Given the description of an element on the screen output the (x, y) to click on. 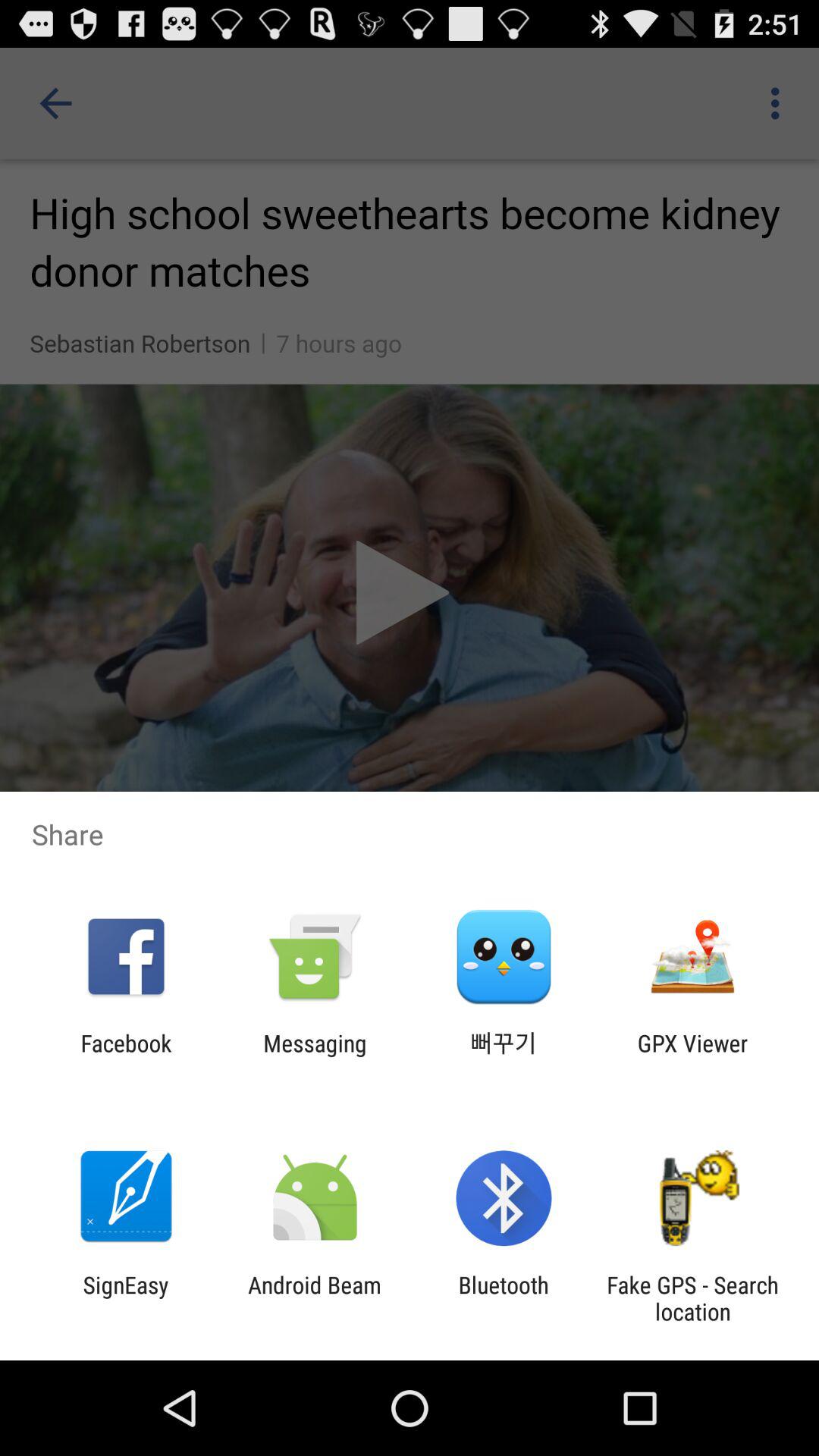
scroll to signeasy (125, 1298)
